Given the description of an element on the screen output the (x, y) to click on. 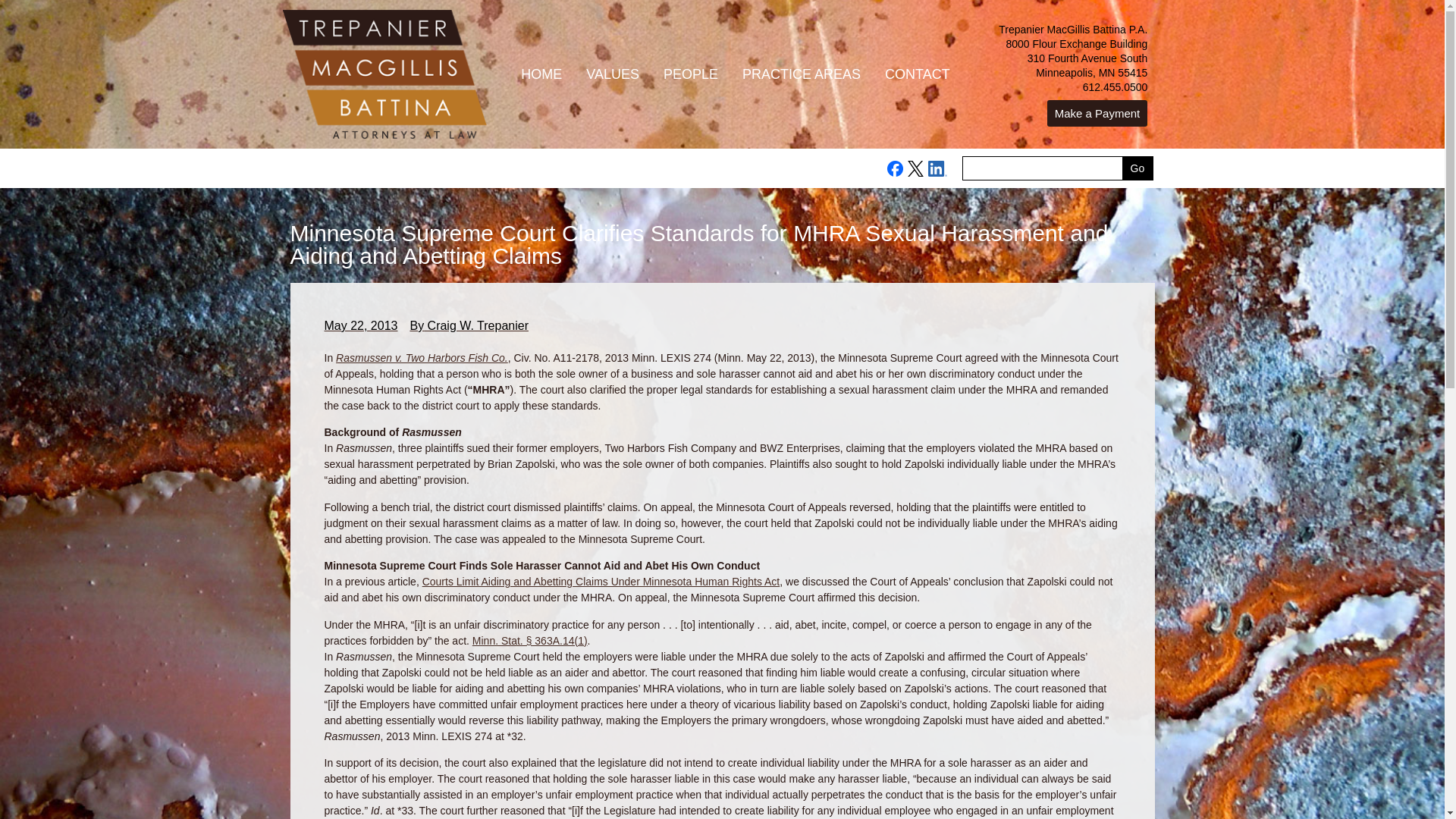
May 22, 2013 (360, 325)
Rasmussen v. Two Harbors Fish Co. (422, 357)
By Craig W. Trepanier (468, 325)
Go (1137, 168)
PRACTICE AREAS (801, 74)
X Logo (915, 168)
Facebook Logo (894, 168)
Make a Payment (1097, 112)
